Given the description of an element on the screen output the (x, y) to click on. 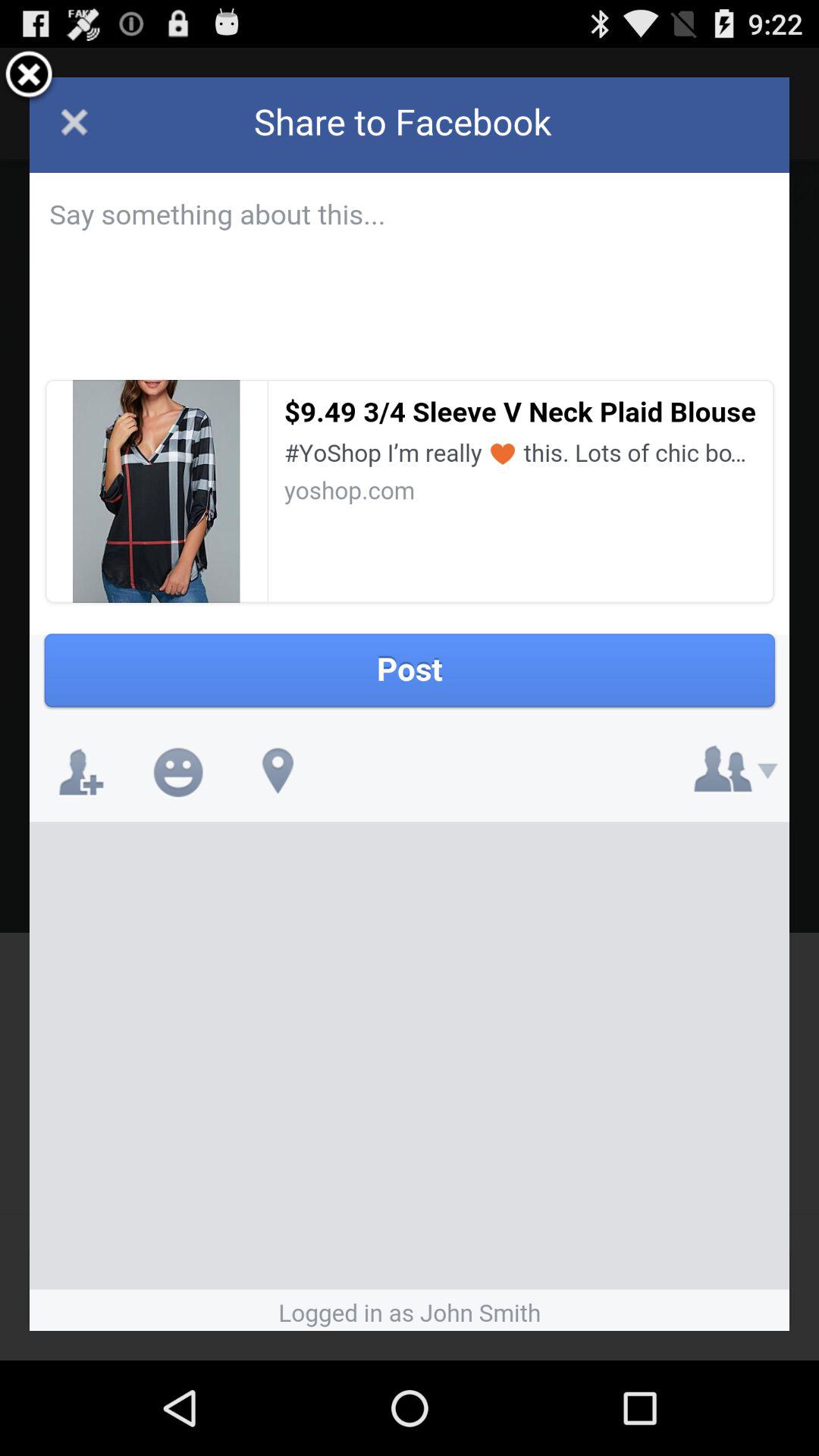
share post window popup (409, 703)
